Given the description of an element on the screen output the (x, y) to click on. 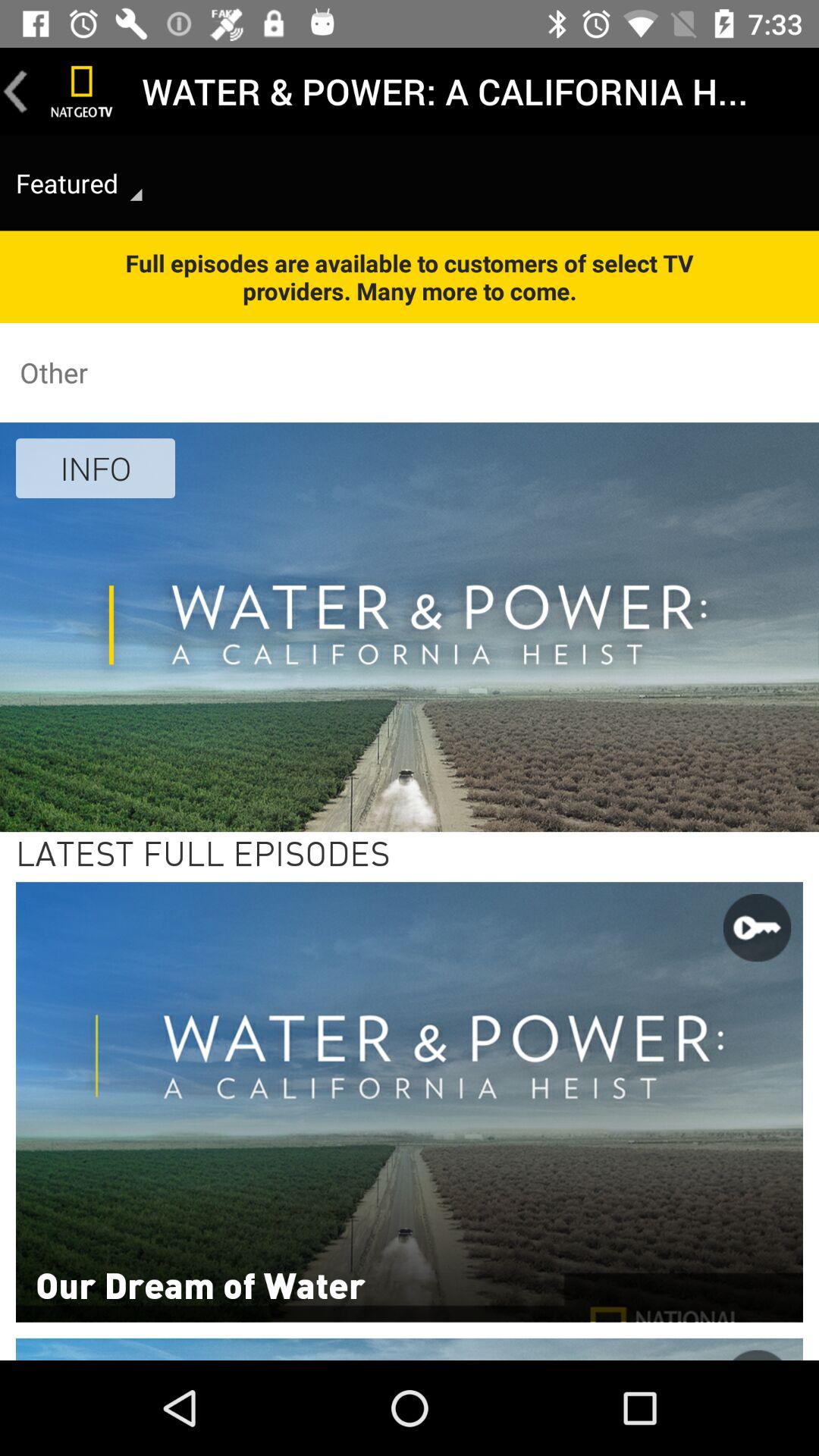
click the icon above featured icon (81, 91)
